Given the description of an element on the screen output the (x, y) to click on. 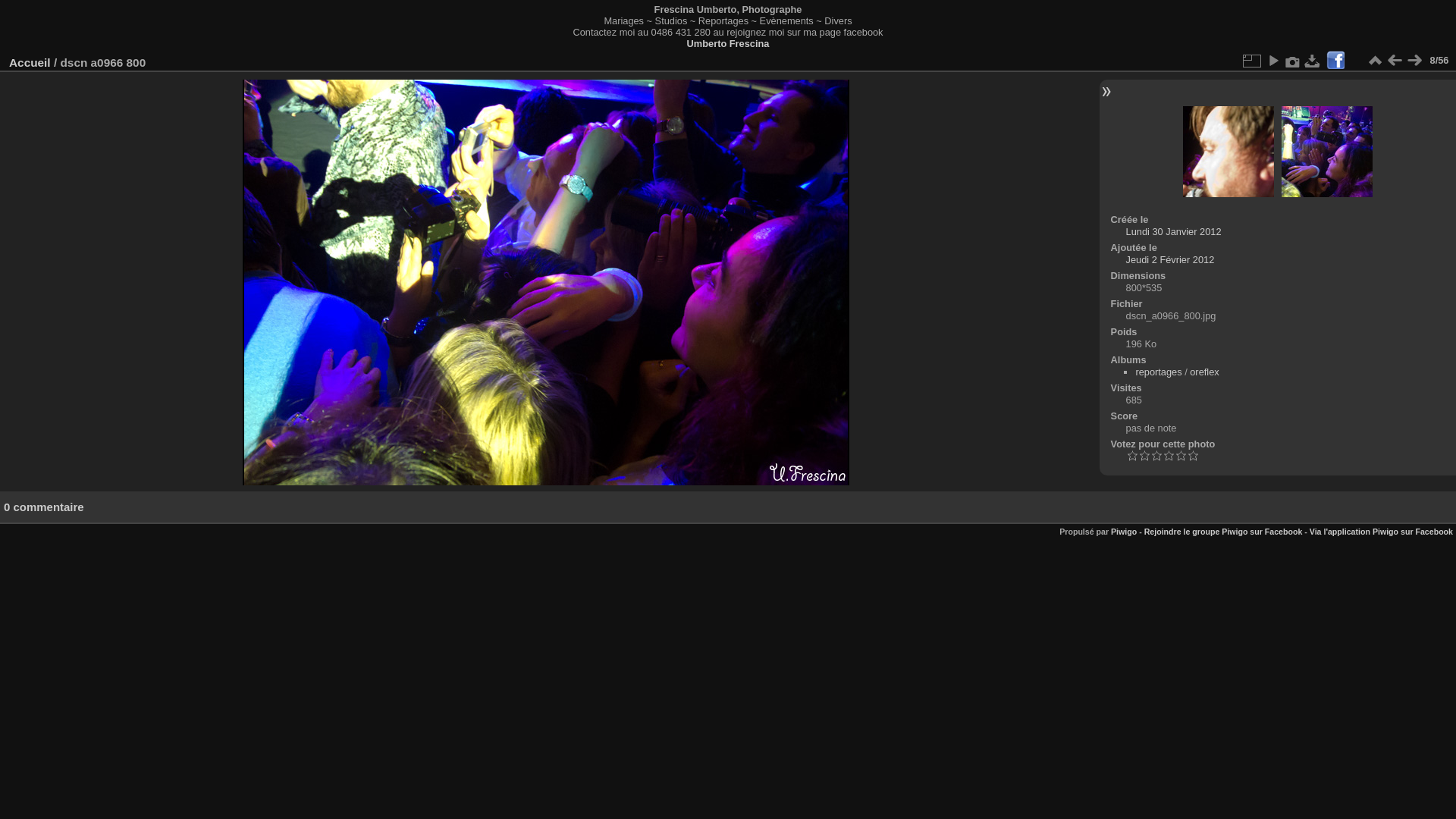
Miniatures Element type: hover (1374, 60)
Suivante : dscn a0967 800 Element type: hover (1326, 152)
2 Element type: hover (1156, 455)
0 Element type: hover (1132, 455)
Suivante : dscn a0967 800 Element type: hover (1414, 60)
1 Element type: hover (1144, 455)
dscn a0966 800 - dscn_a0966_800.jpg Element type: hover (545, 282)
diaporama Element type: hover (1273, 60)
Umberto Frescina Element type: text (728, 43)
reportages Element type: text (1158, 371)
oreflex Element type: text (1203, 371)
3 Element type: hover (1168, 455)
4 Element type: hover (1180, 455)
Rejoindre le groupe Piwigo sur Facebook Element type: text (1223, 531)
Partager sur Facebook Element type: hover (1335, 60)
Lundi 30 Janvier 2012 Element type: text (1173, 231)
Accueil Element type: text (29, 62)
5 Element type: hover (1192, 455)
Tailles de photo Element type: hover (1251, 60)
Piwigo Element type: text (1123, 531)
Via l'application Piwigo sur Facebook Element type: text (1380, 531)
